Given the description of an element on the screen output the (x, y) to click on. 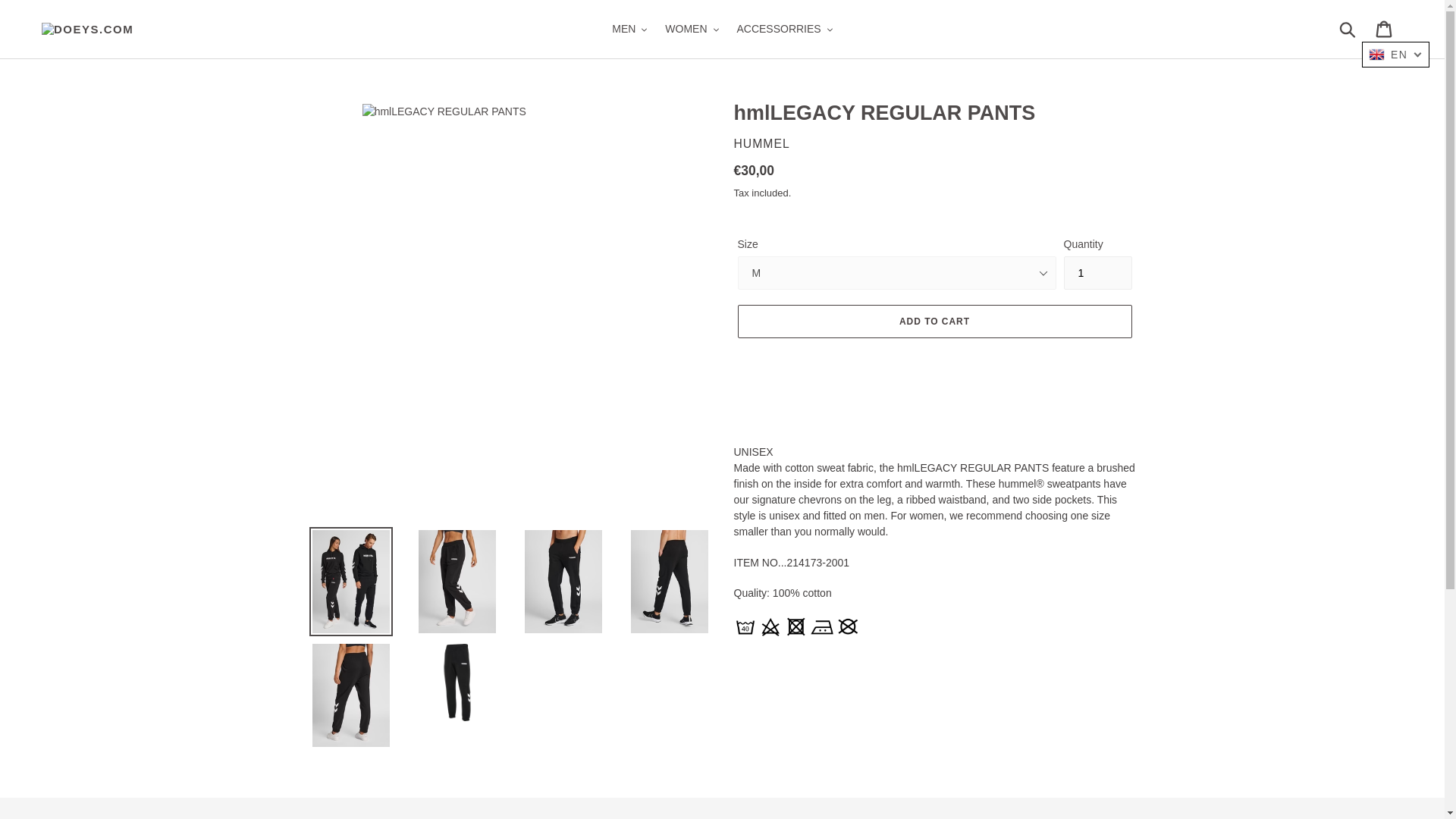
1 (1096, 272)
Iron at medium temperature (821, 625)
Do not tumble dry (796, 625)
Machine wash at 40 degrees (745, 625)
Do not clean (847, 625)
Do not bleach (769, 625)
